Given the description of an element on the screen output the (x, y) to click on. 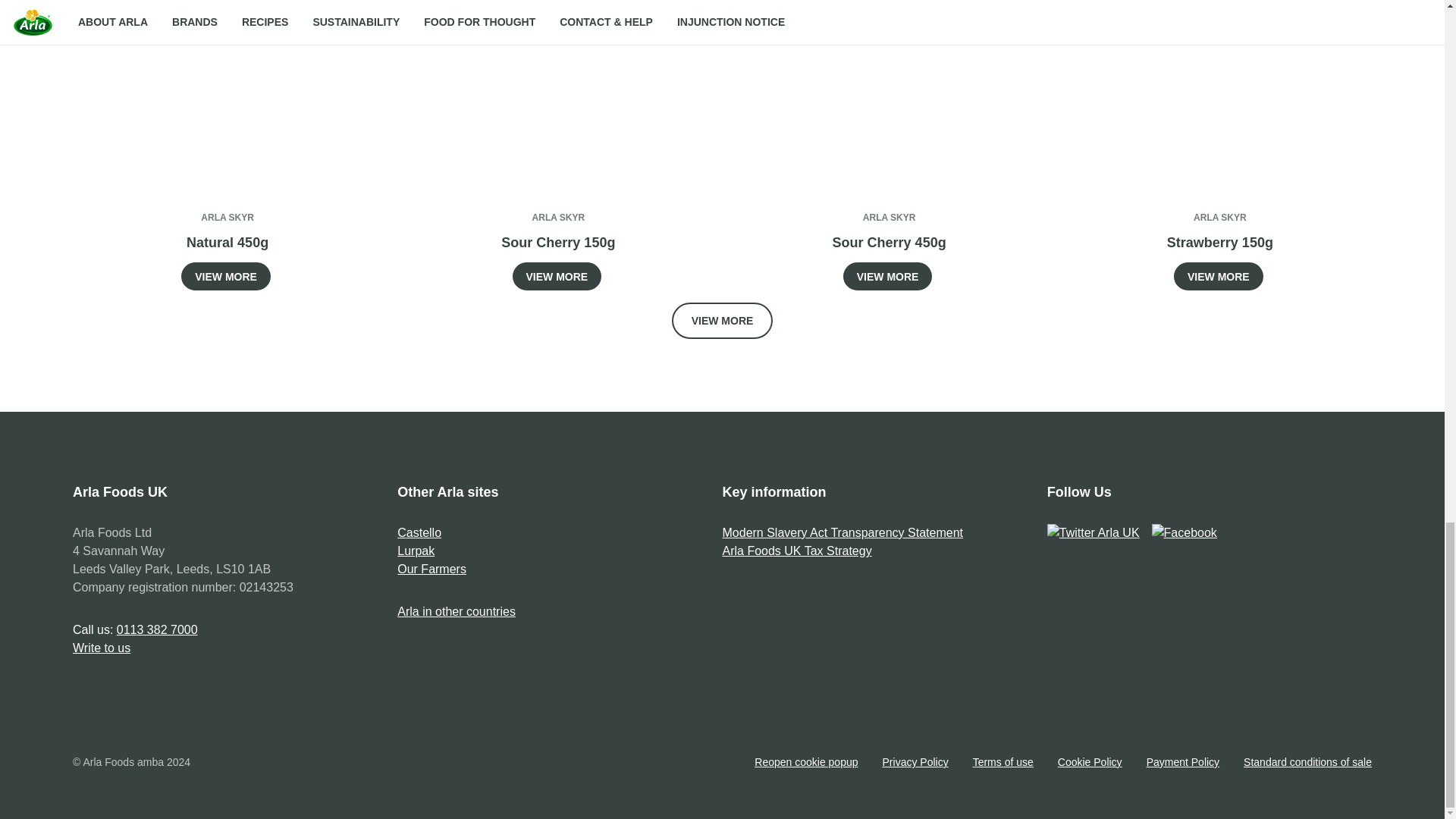
Our Farmers (431, 568)
Facebook (1184, 532)
Modern Slavery Act Transparency Statement (842, 532)
Twitter Arla UK (1093, 532)
Arla Foods UK Tax Strategy (796, 550)
